Given the description of an element on the screen output the (x, y) to click on. 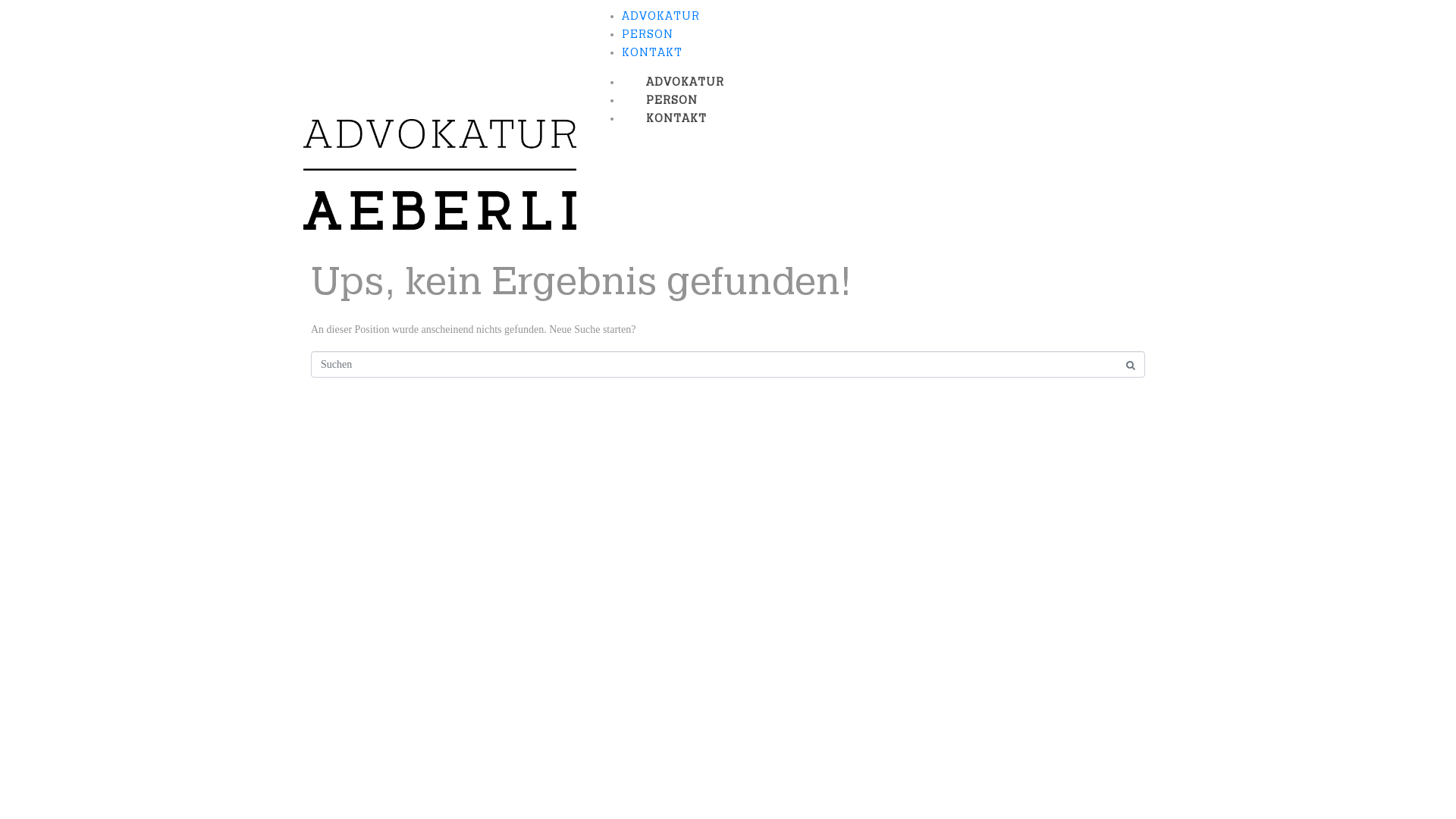
PERSON Element type: text (647, 34)
KONTAKT Element type: text (651, 52)
KONTAKT Element type: text (676, 118)
ADVOKATUR Element type: text (660, 15)
PERSON Element type: text (671, 99)
ADVOKATUR Element type: text (684, 81)
